Given the description of an element on the screen output the (x, y) to click on. 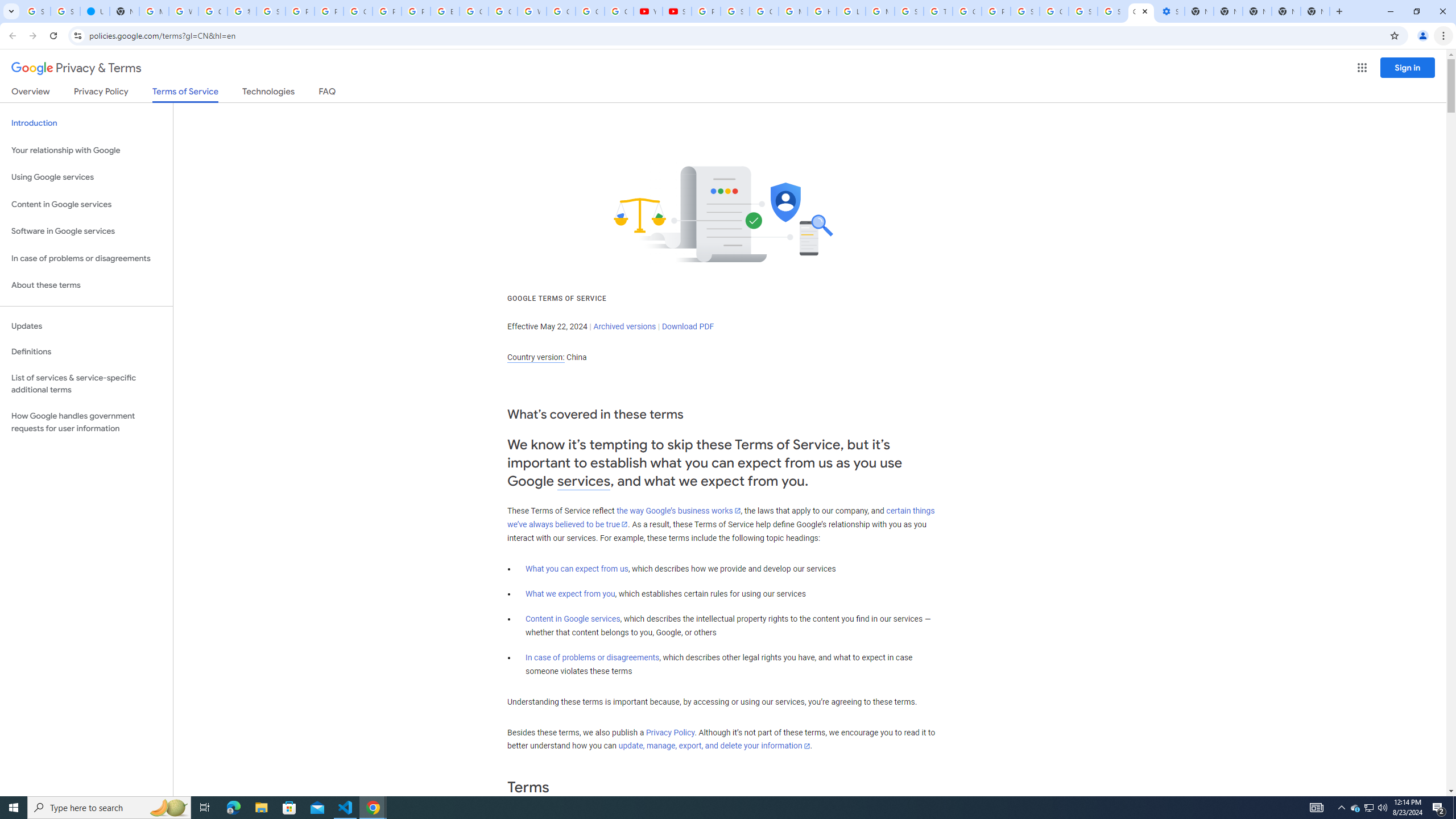
Sign in - Google Accounts (1025, 11)
Create your Google Account (212, 11)
Search our Doodle Library Collection - Google Doodles (908, 11)
